Given the description of an element on the screen output the (x, y) to click on. 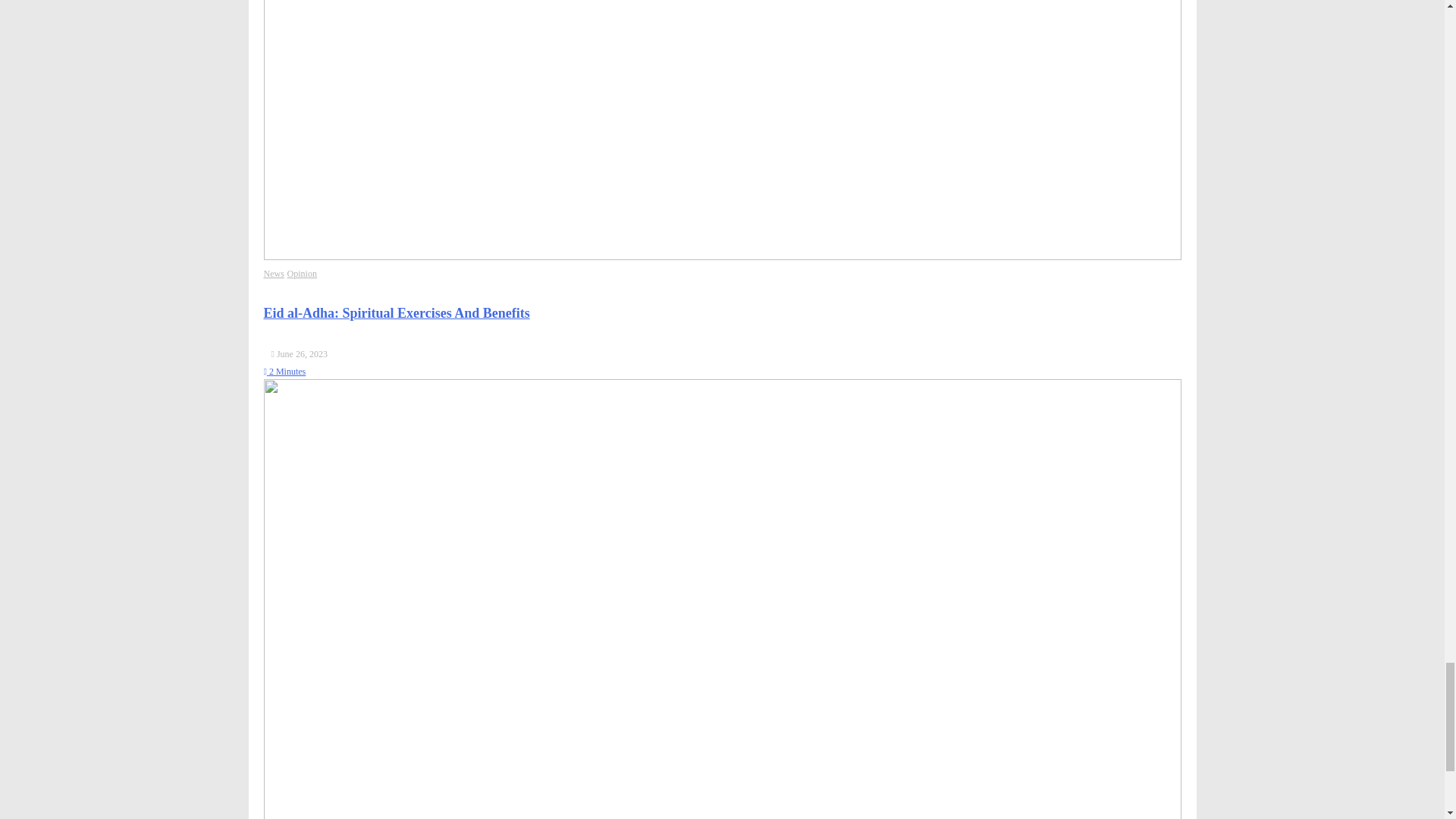
Estimated Reading Time of Article (284, 371)
